Given the description of an element on the screen output the (x, y) to click on. 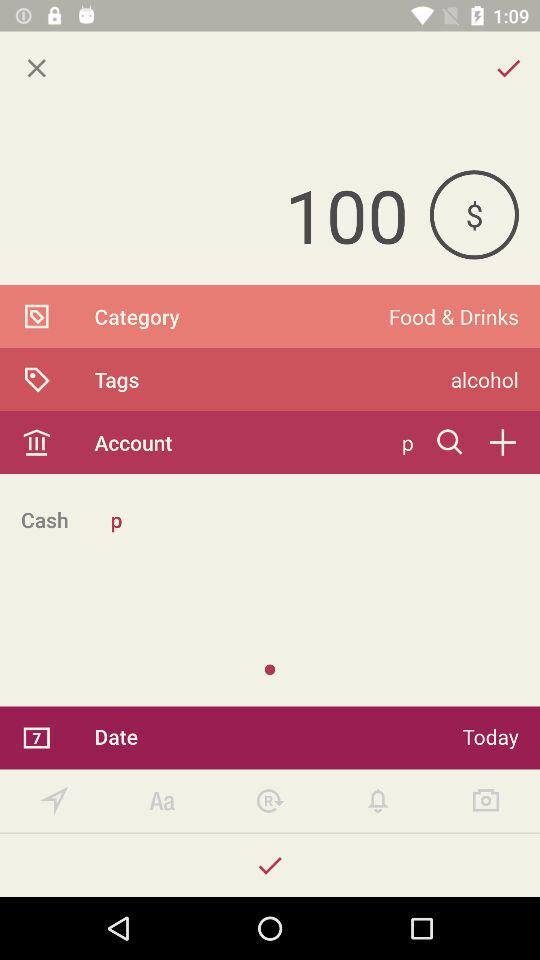
go to alarm (378, 800)
